Given the description of an element on the screen output the (x, y) to click on. 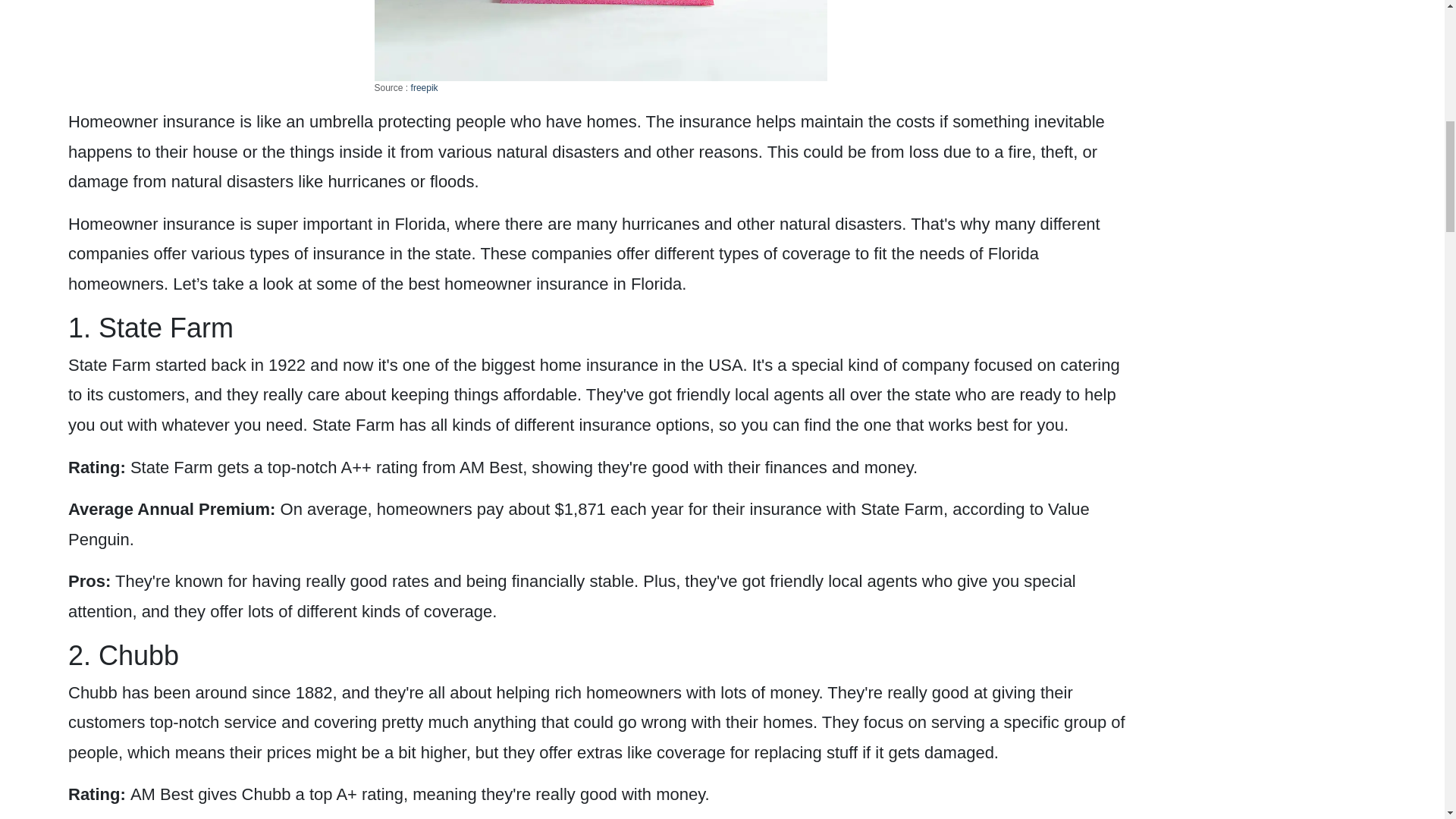
Advertisement (1254, 78)
freepik (424, 87)
